Given the description of an element on the screen output the (x, y) to click on. 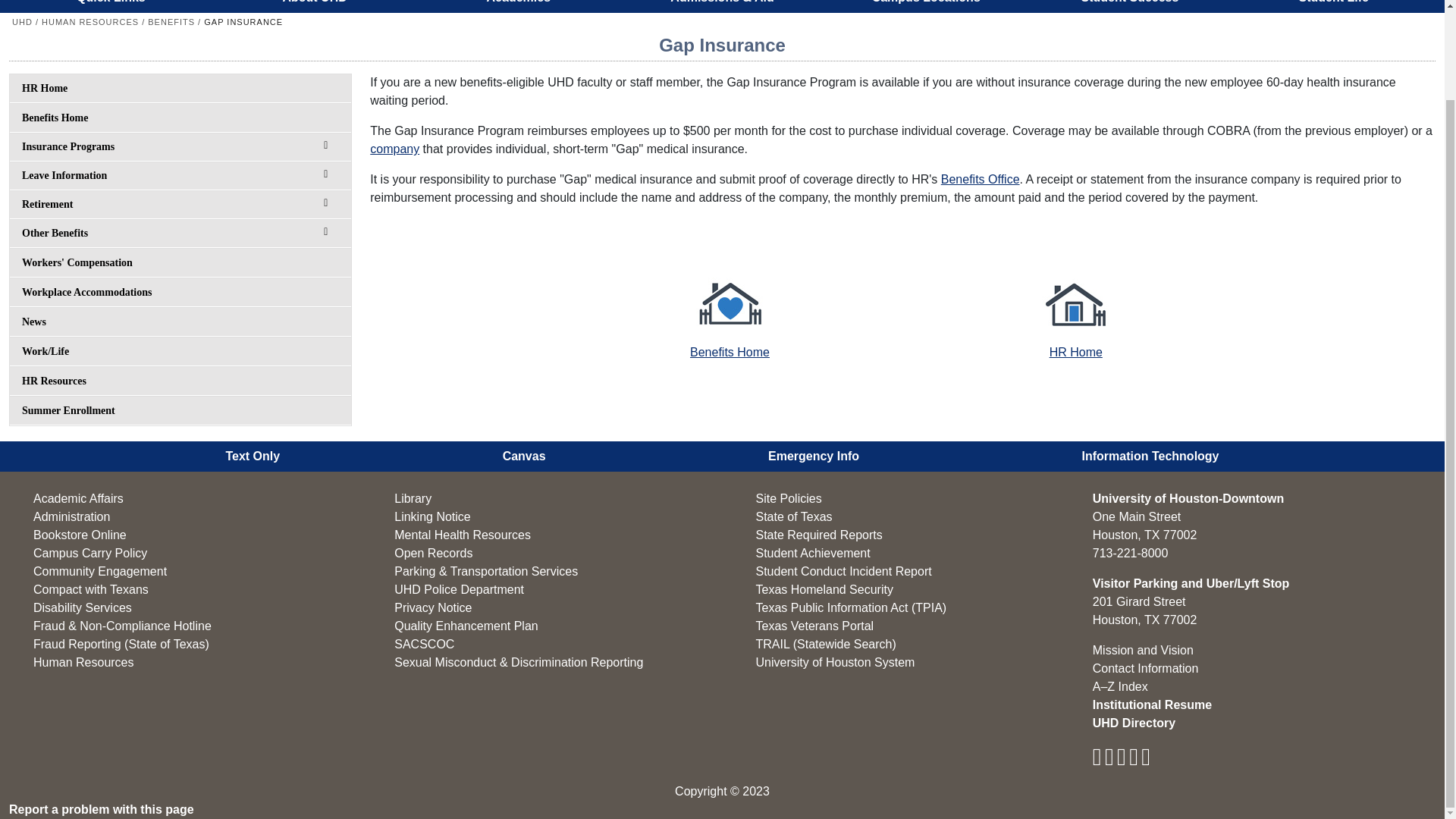
Quick Links (110, 6)
